Given the description of an element on the screen output the (x, y) to click on. 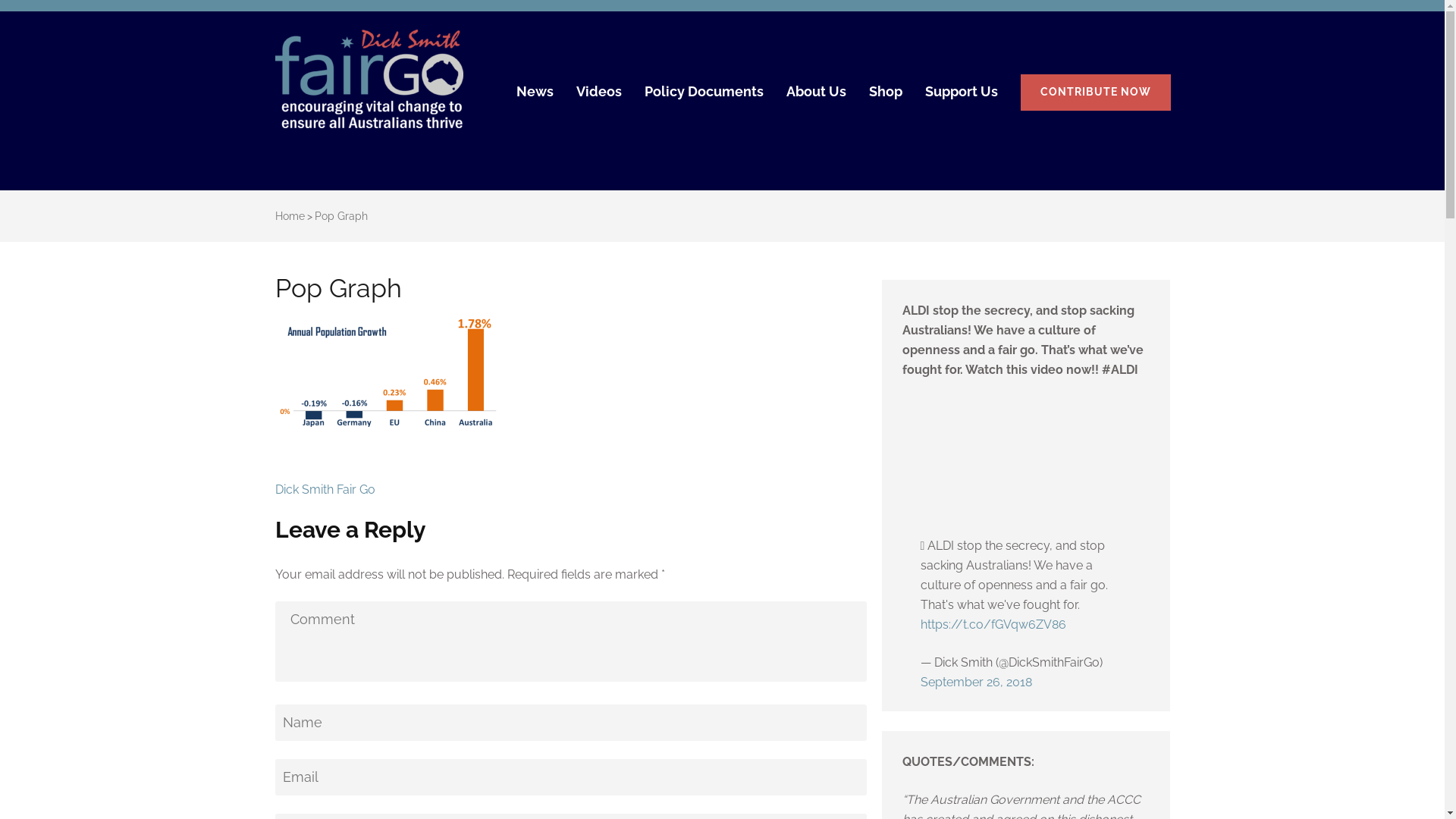
Videos Element type: text (598, 97)
Dick Smith Fair Go Element type: text (577, 86)
News Element type: text (533, 97)
Support Us Element type: text (961, 97)
Dick Smith Fair Go Element type: text (324, 489)
Pop Graph Element type: text (340, 215)
About Us Element type: text (815, 97)
CONTRIBUTE NOW Element type: text (1095, 92)
September 26, 2018 Element type: text (976, 681)
Home Element type: text (289, 215)
https://t.co/fGVqw6ZV86 Element type: text (993, 624)
Shop Element type: text (885, 97)
Policy Documents Element type: text (703, 97)
